Given the description of an element on the screen output the (x, y) to click on. 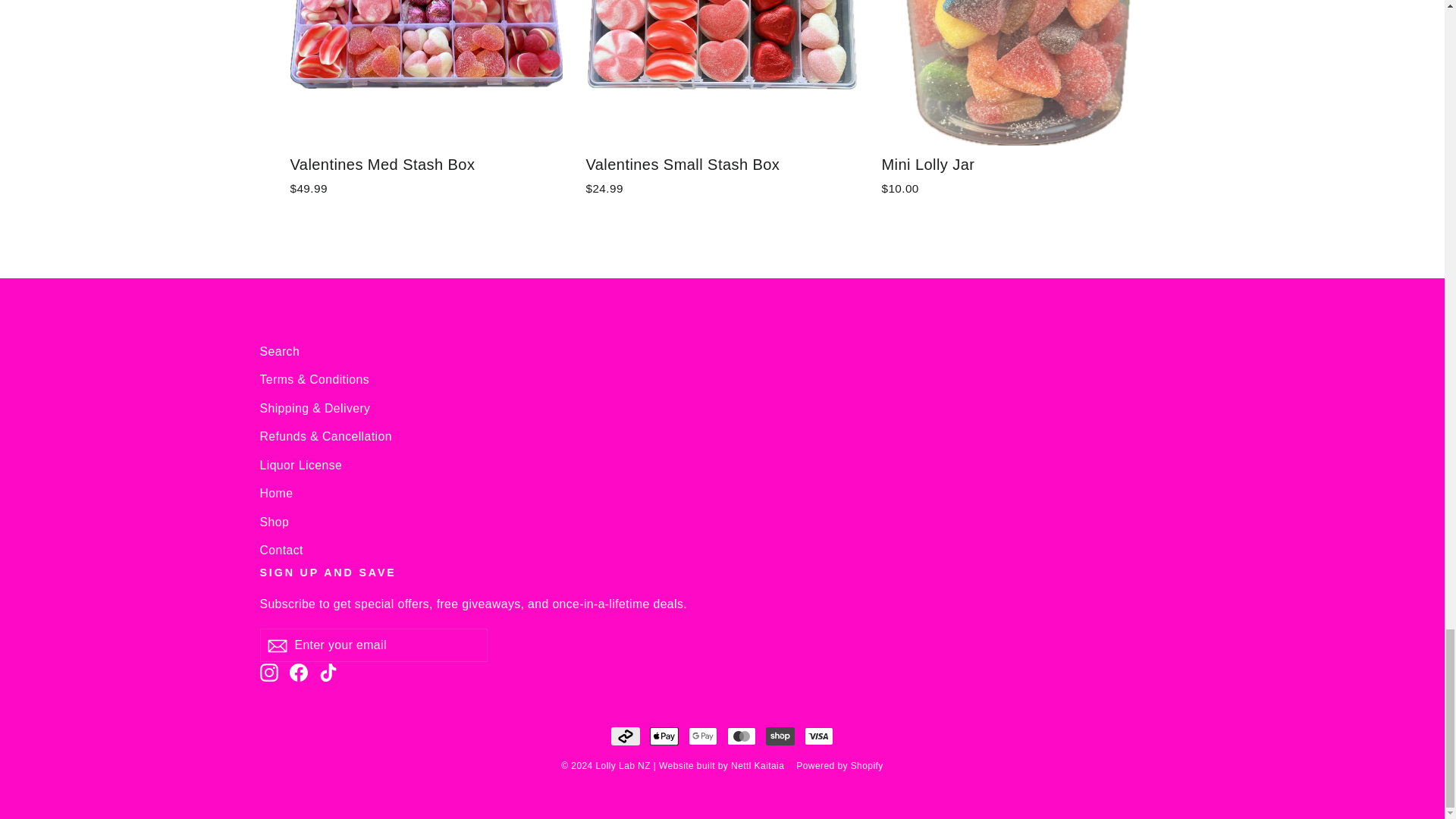
Apple Pay (663, 736)
Afterpay (625, 736)
Mastercard (740, 736)
Lolly Lab NZ on TikTok (327, 671)
Google Pay (702, 736)
Shop Pay (779, 736)
Lolly Lab NZ on Facebook (298, 671)
